Given the description of an element on the screen output the (x, y) to click on. 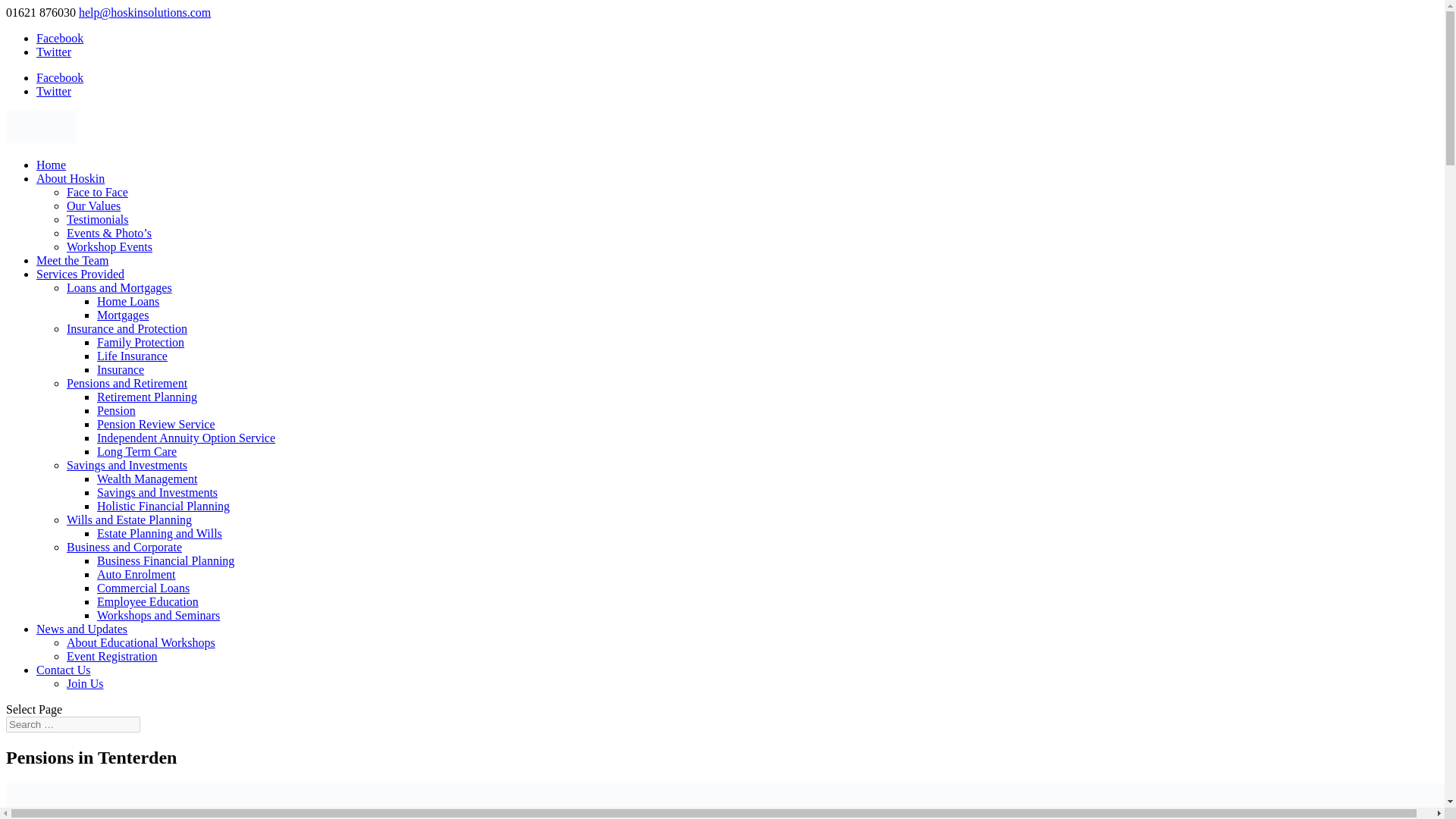
Meet the Team (71, 259)
Testimonials (97, 219)
Auto Enrolment (136, 574)
Savings and Investments (156, 492)
Life Insurance (132, 355)
Search for: (72, 724)
Pension Review Service (156, 423)
Services Provided (79, 273)
Home (50, 164)
Twitter (53, 51)
